Given the description of an element on the screen output the (x, y) to click on. 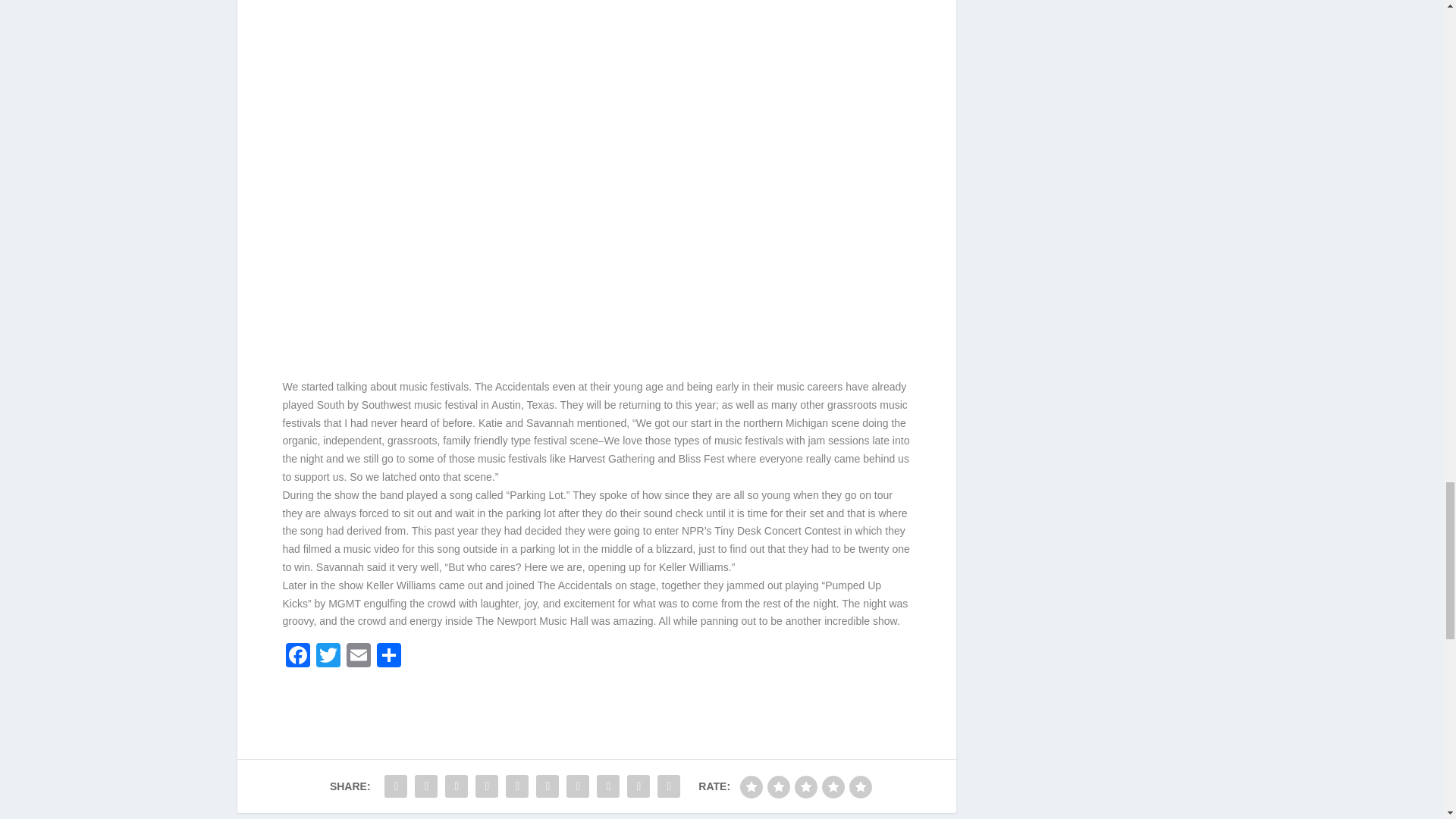
Facebook (297, 656)
Email (357, 656)
Twitter (327, 656)
